Given the description of an element on the screen output the (x, y) to click on. 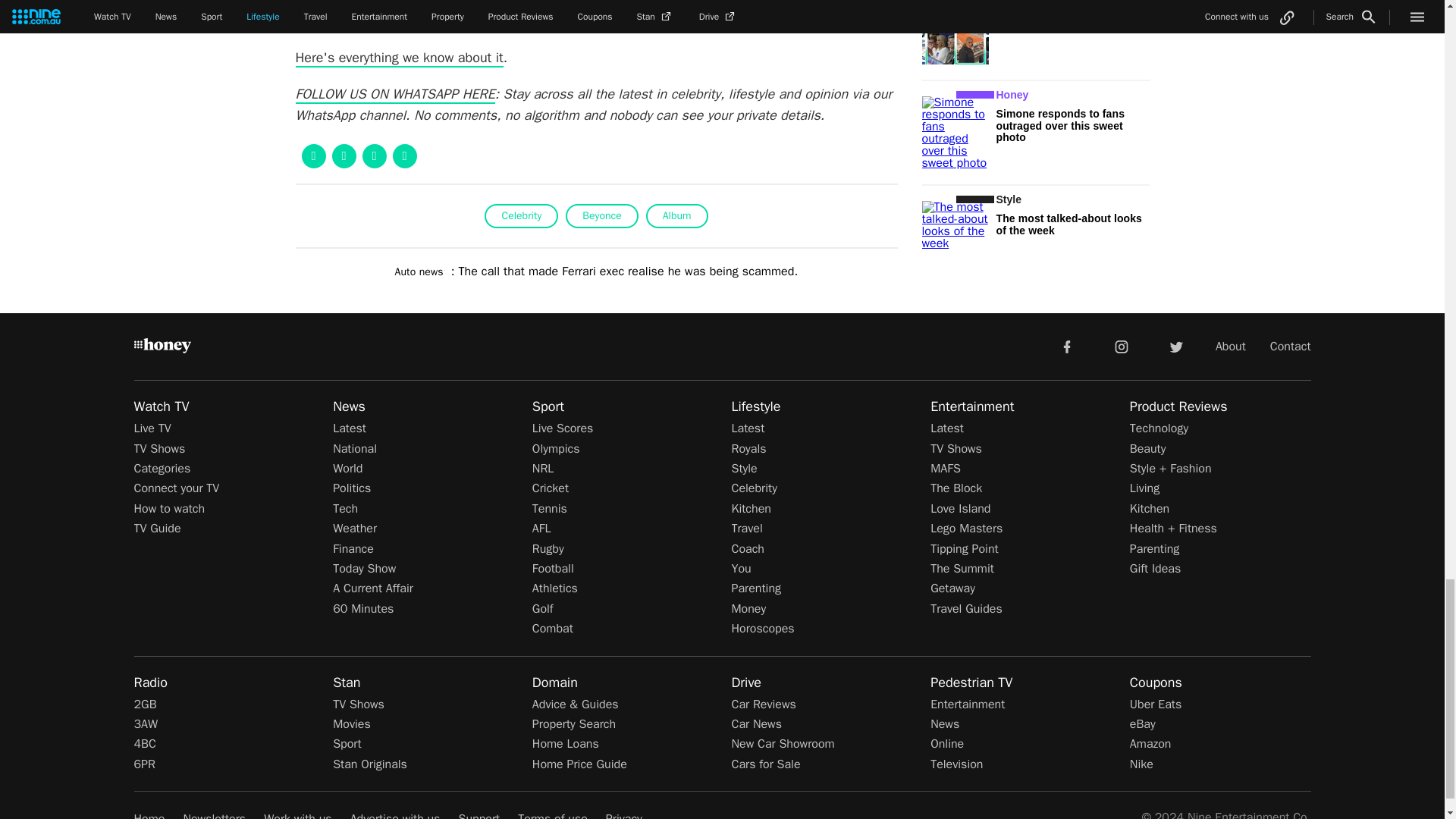
twitter (1175, 345)
Here's everything we know about it (399, 58)
facebook (1066, 345)
instagram (1121, 345)
